Given the description of an element on the screen output the (x, y) to click on. 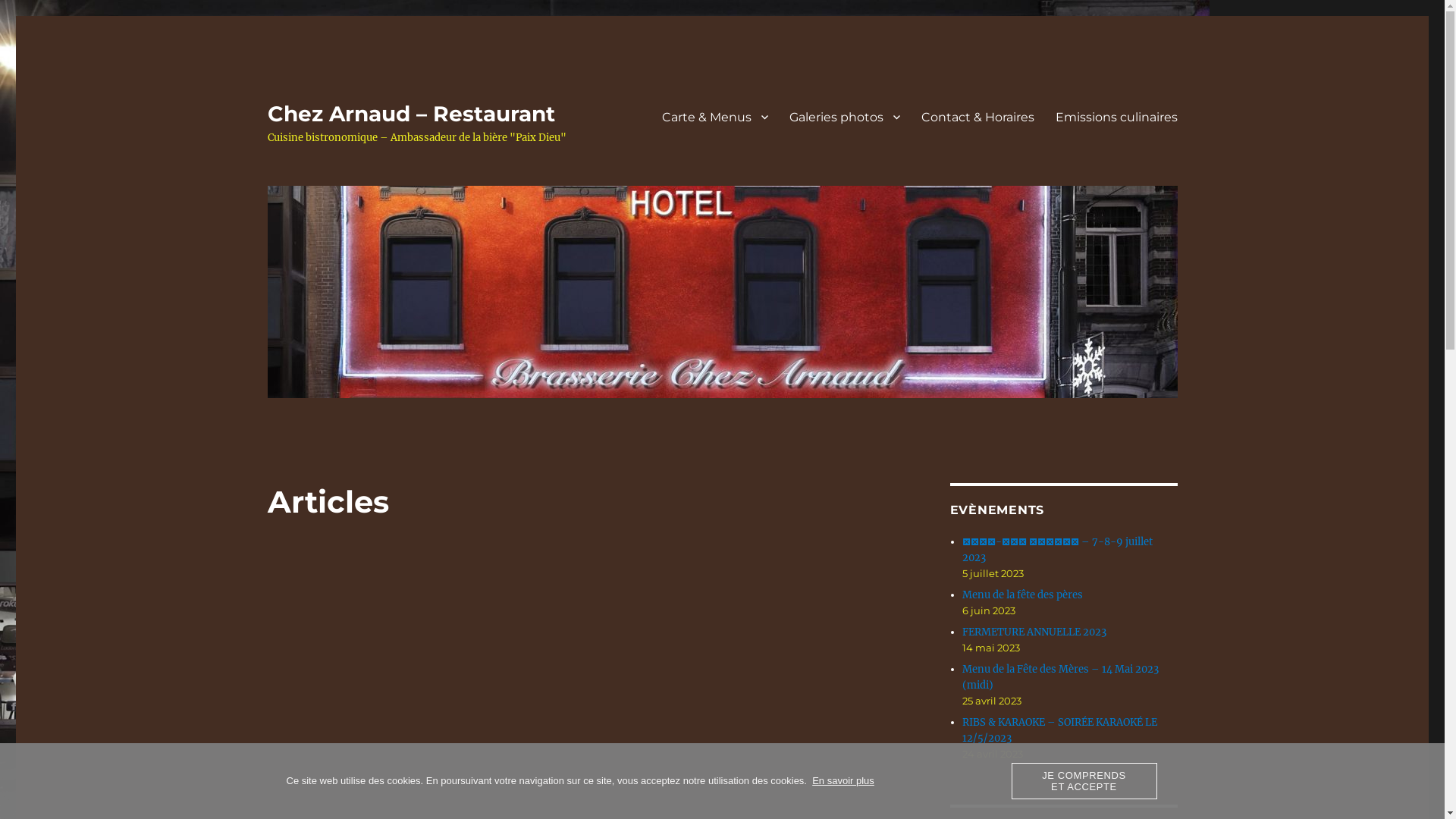
Carte & Menus Element type: text (714, 116)
FERMETURE ANNUELLE 2023 Element type: text (1034, 631)
Galeries photos Element type: text (844, 116)
En savoir plus Element type: text (843, 780)
Contact & Horaires Element type: text (977, 116)
JE COMPRENDS ET ACCEPTE Element type: text (1084, 780)
Emissions culinaires Element type: text (1116, 116)
